Given the description of an element on the screen output the (x, y) to click on. 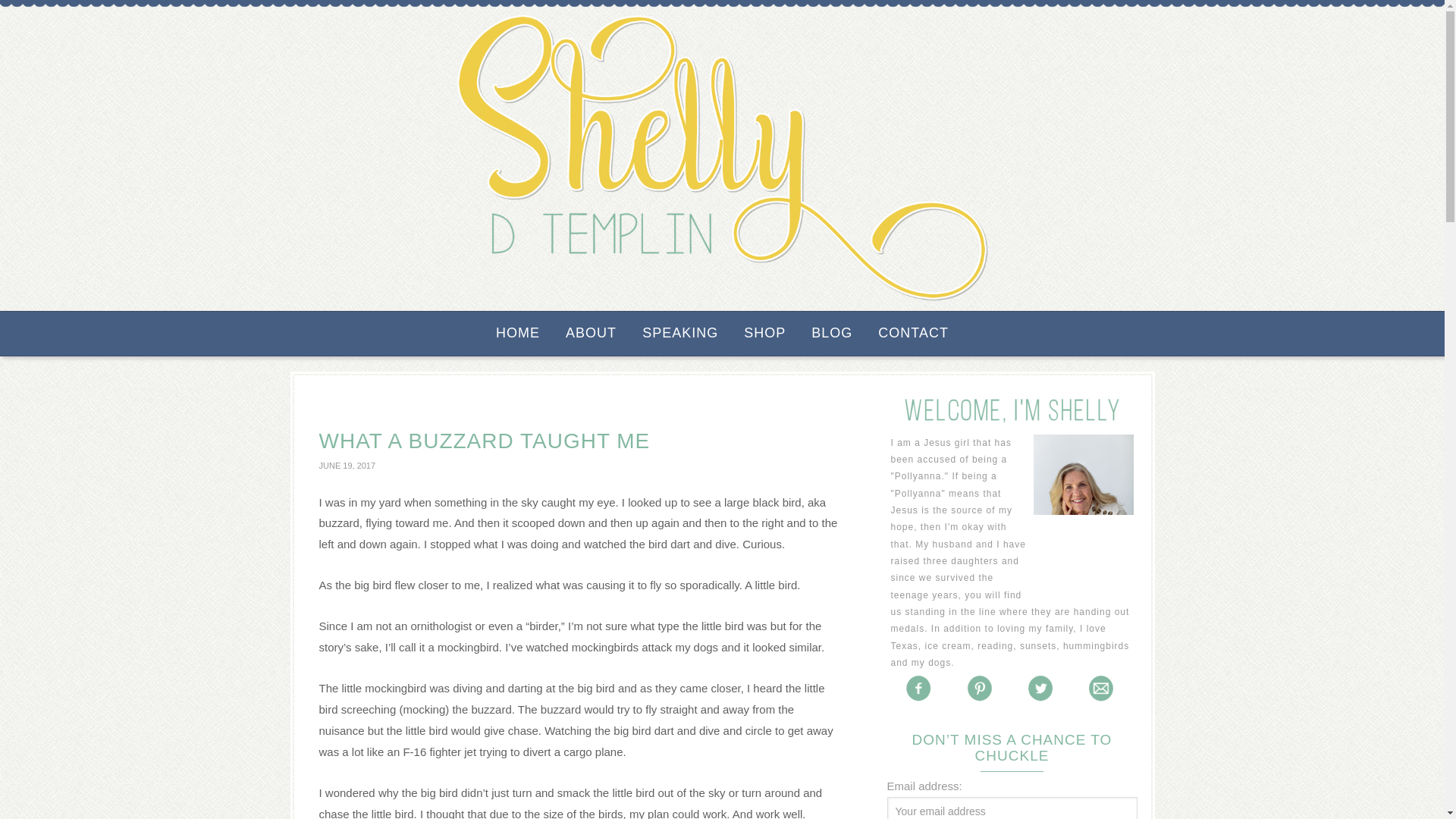
BLOG (831, 333)
CONTACT (913, 333)
SPEAKING (680, 333)
SHOP (764, 333)
HOME (517, 333)
ABOUT (590, 333)
